Given the description of an element on the screen output the (x, y) to click on. 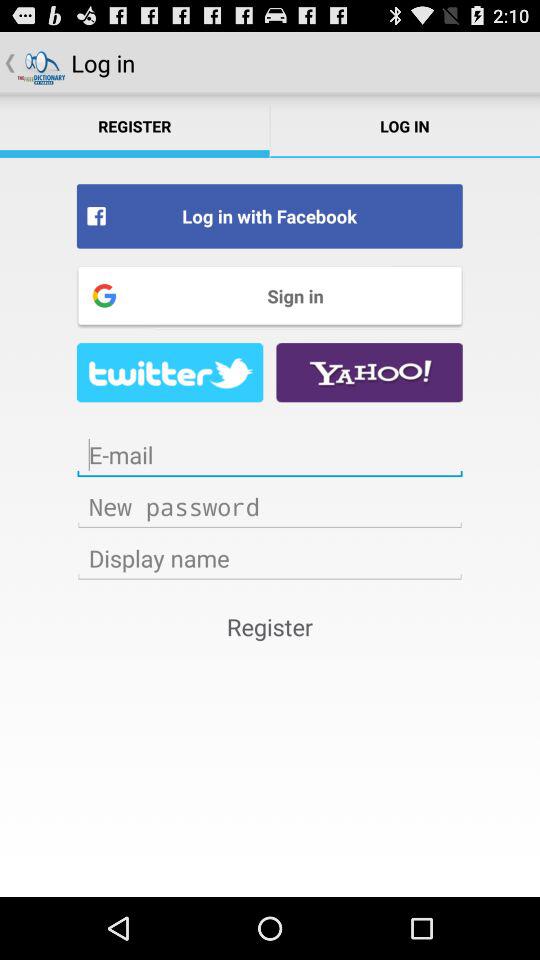
screen page (269, 455)
